Given the description of an element on the screen output the (x, y) to click on. 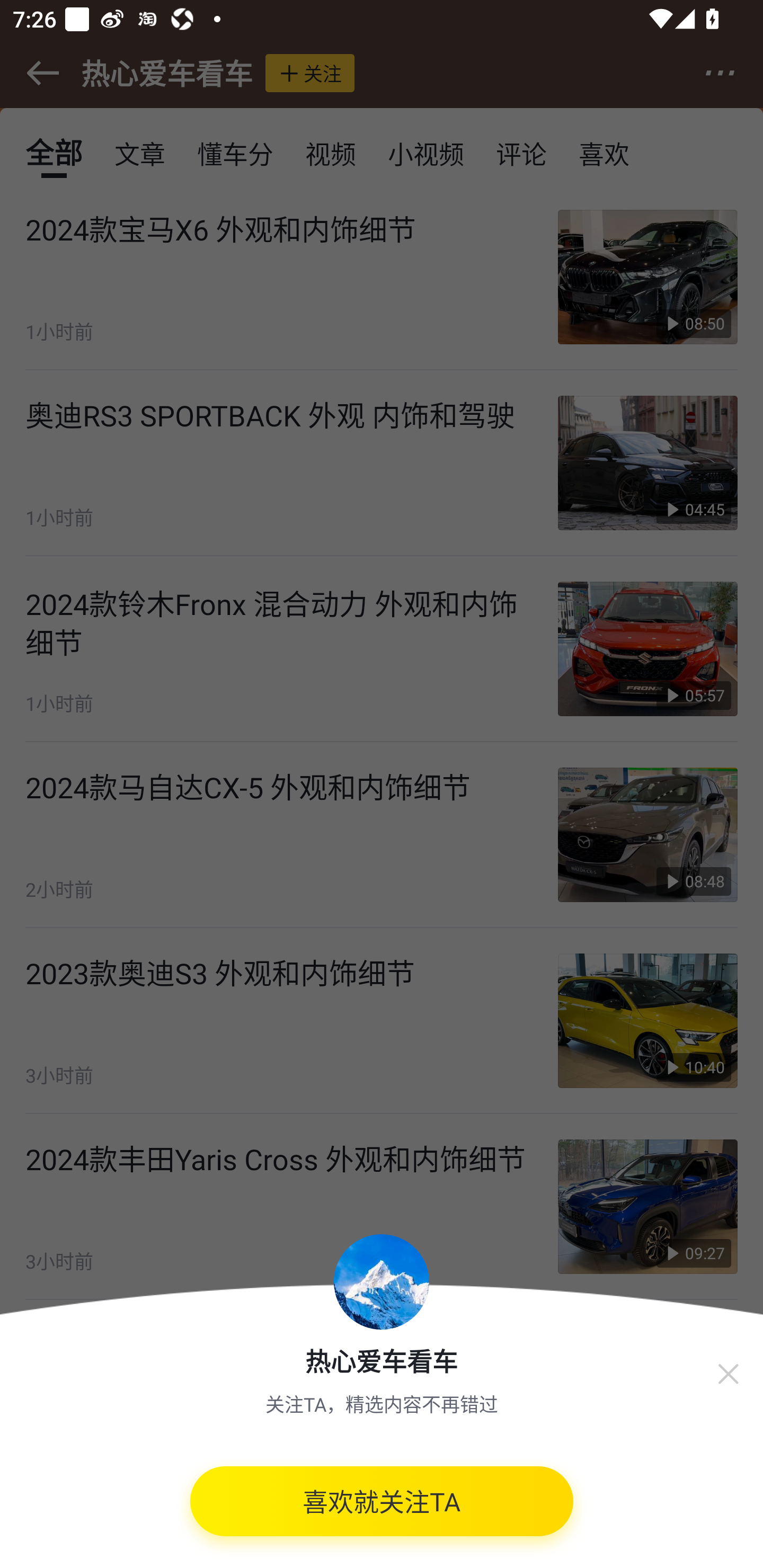
喜欢就关注TA (381, 1507)
